Given the description of an element on the screen output the (x, y) to click on. 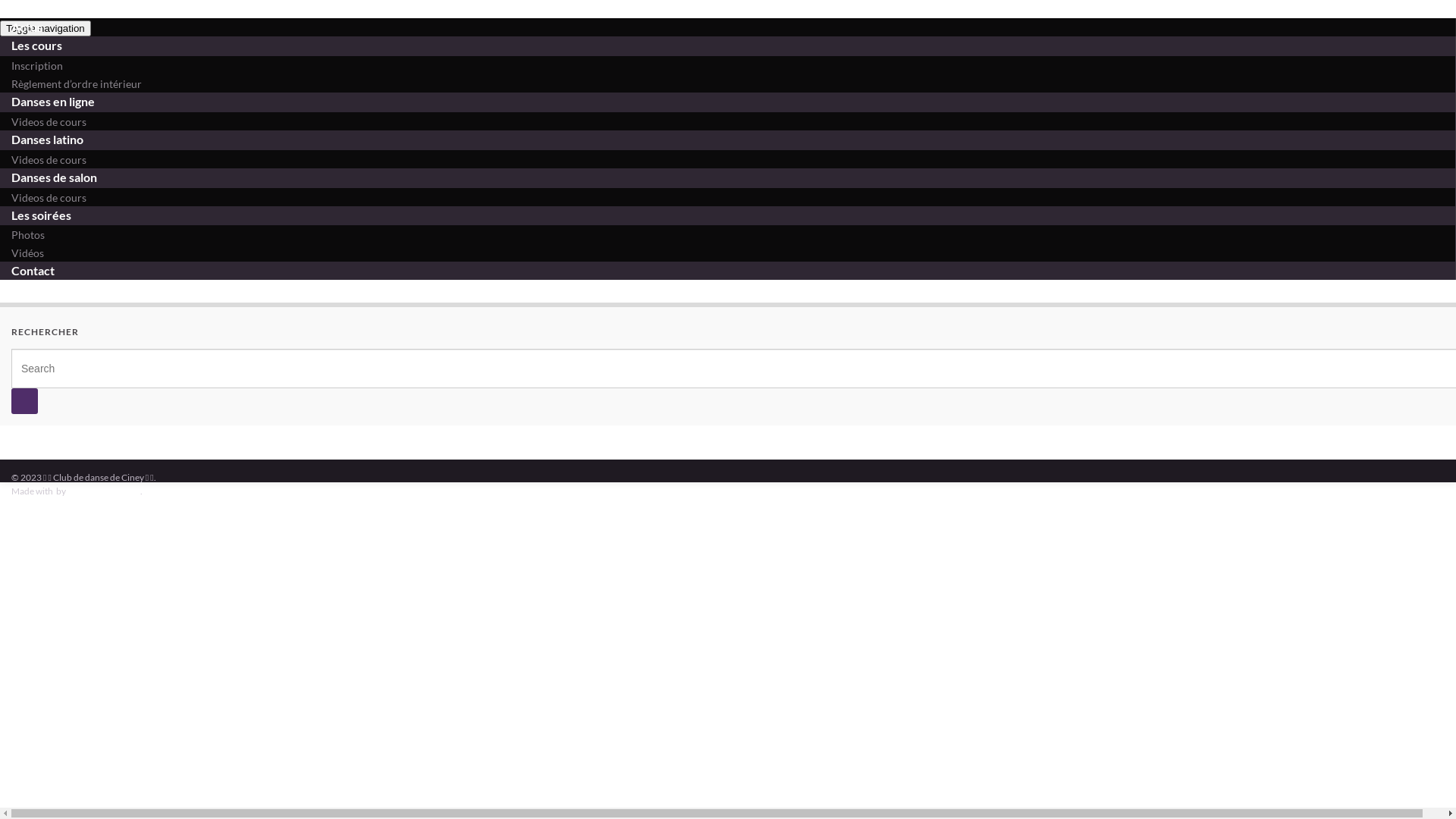
Videos de cours Element type: text (48, 159)
Videos de cours Element type: text (48, 121)
Contact Element type: text (32, 269)
Inscription Element type: text (37, 65)
Graphene Themes Element type: text (103, 490)
Videos de cours Element type: text (48, 197)
Danses latino Element type: text (47, 138)
Photos Element type: text (28, 234)
Danses en ligne Element type: text (53, 100)
Danses de salon Element type: text (54, 176)
Les cours Element type: text (36, 44)
Actus Element type: text (26, 26)
Toggle navigation Element type: text (45, 28)
